Given the description of an element on the screen output the (x, y) to click on. 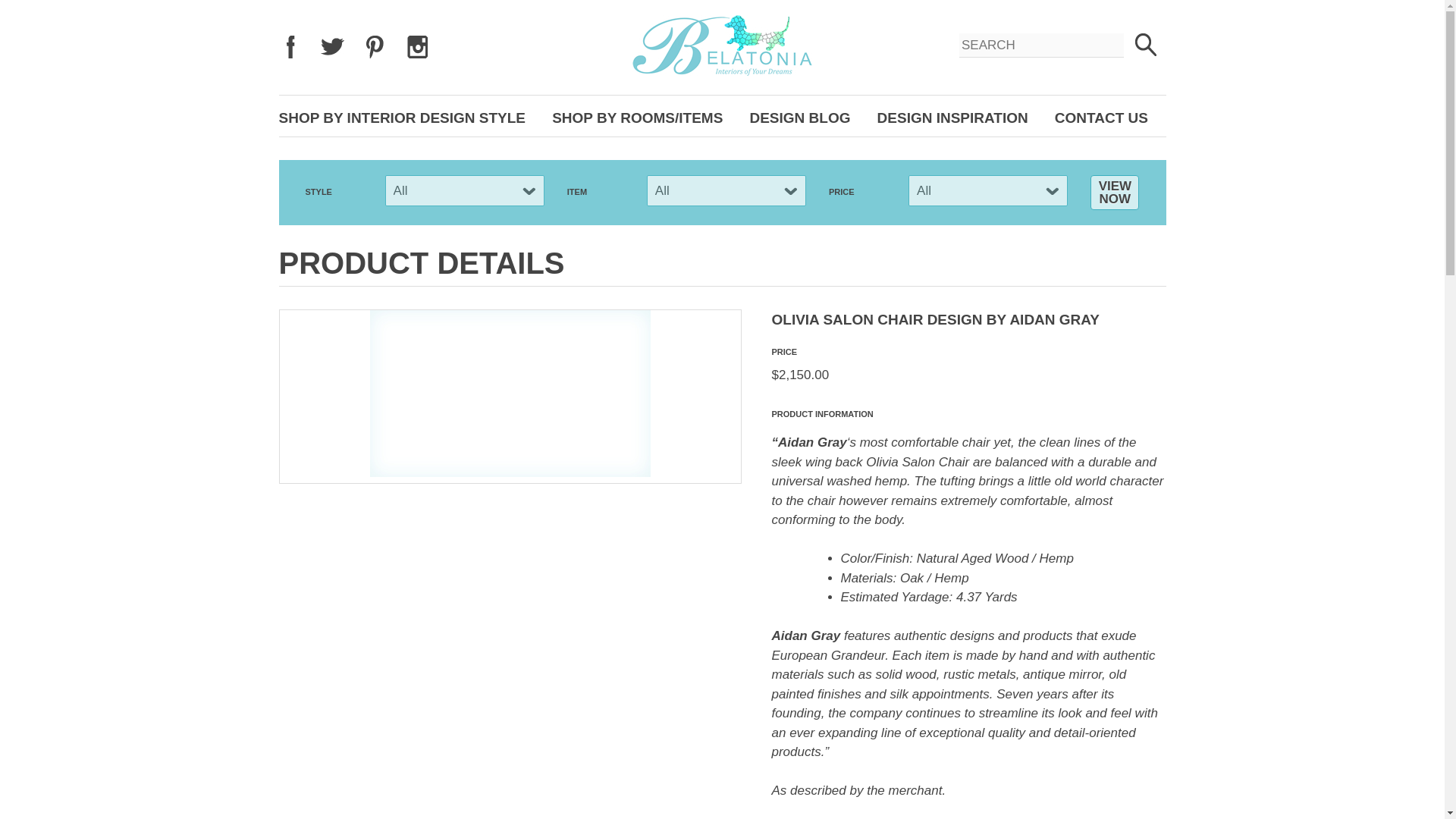
DESIGN BLOG (799, 117)
VIEW NOW (1114, 192)
DESIGN INSPIRATION (952, 117)
CONTACT US (1101, 117)
SHOP BY INTERIOR DESIGN STYLE (402, 117)
